Given the description of an element on the screen output the (x, y) to click on. 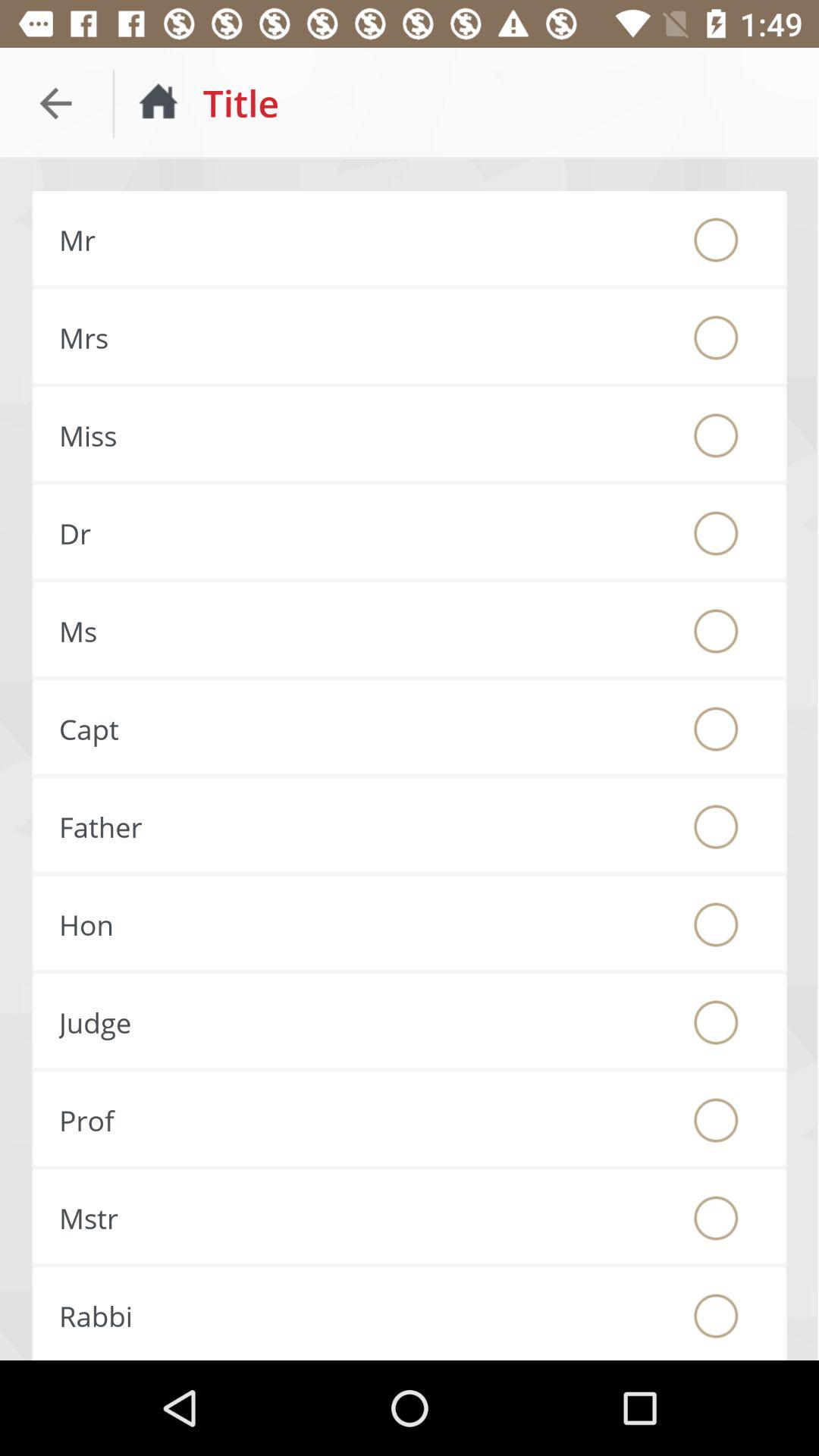
chose tite dr (715, 533)
